Given the description of an element on the screen output the (x, y) to click on. 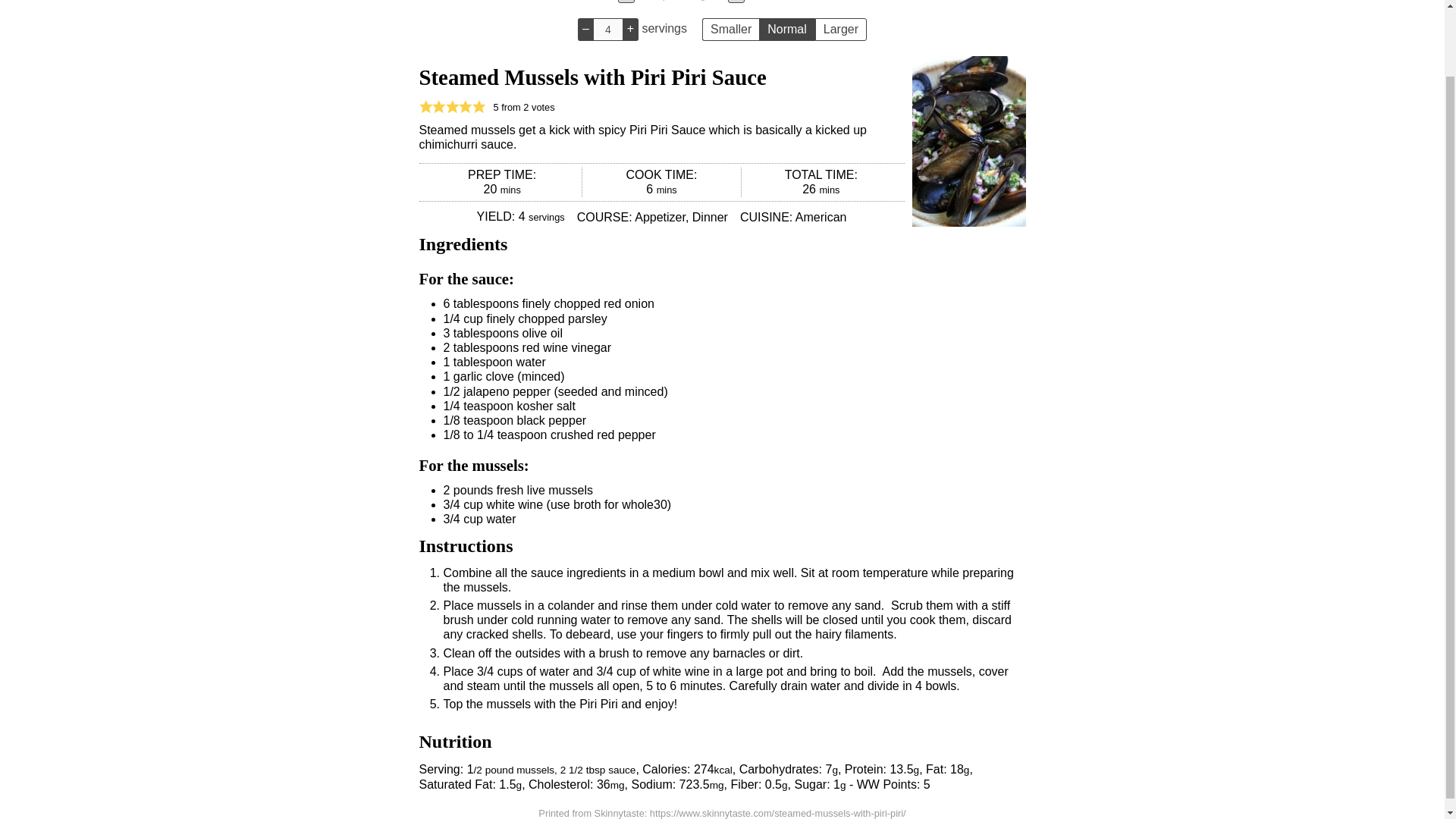
4 (607, 29)
Normal (786, 29)
Larger (840, 29)
Smaller (729, 29)
